Given the description of an element on the screen output the (x, y) to click on. 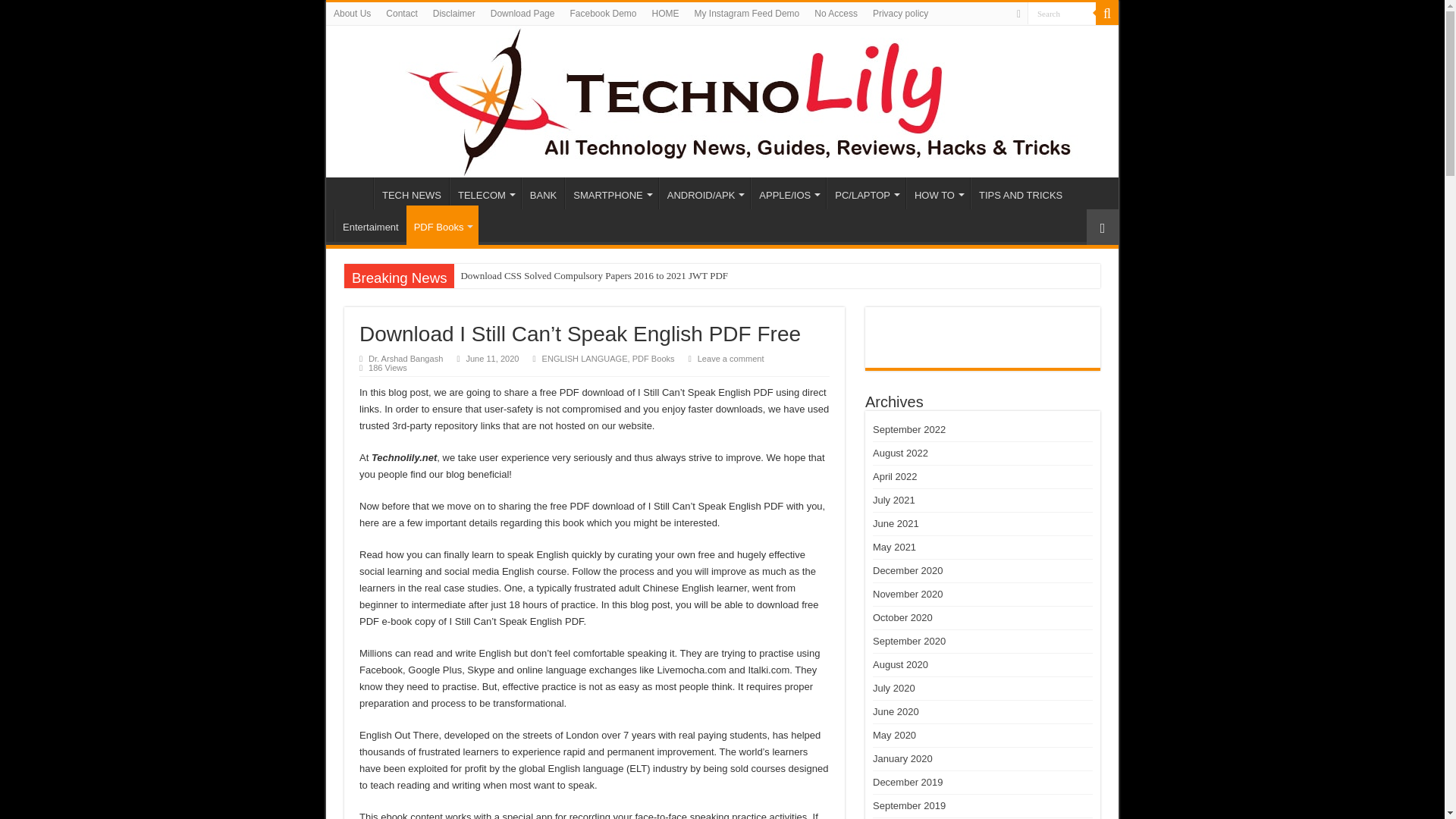
About Us (352, 13)
Search (1061, 13)
No Access (835, 13)
Download CSS Solved Compulsory Papers 2016 to 2021 JWT PDF (643, 275)
TECH NEWS (411, 193)
SMARTPHONE (611, 193)
Download Page (522, 13)
Rss (1018, 13)
Random Article (1102, 226)
BANK (542, 193)
HOME (666, 13)
Facebook Demo (602, 13)
My Instagram Feed Demo (747, 13)
Search (1107, 13)
